Given the description of an element on the screen output the (x, y) to click on. 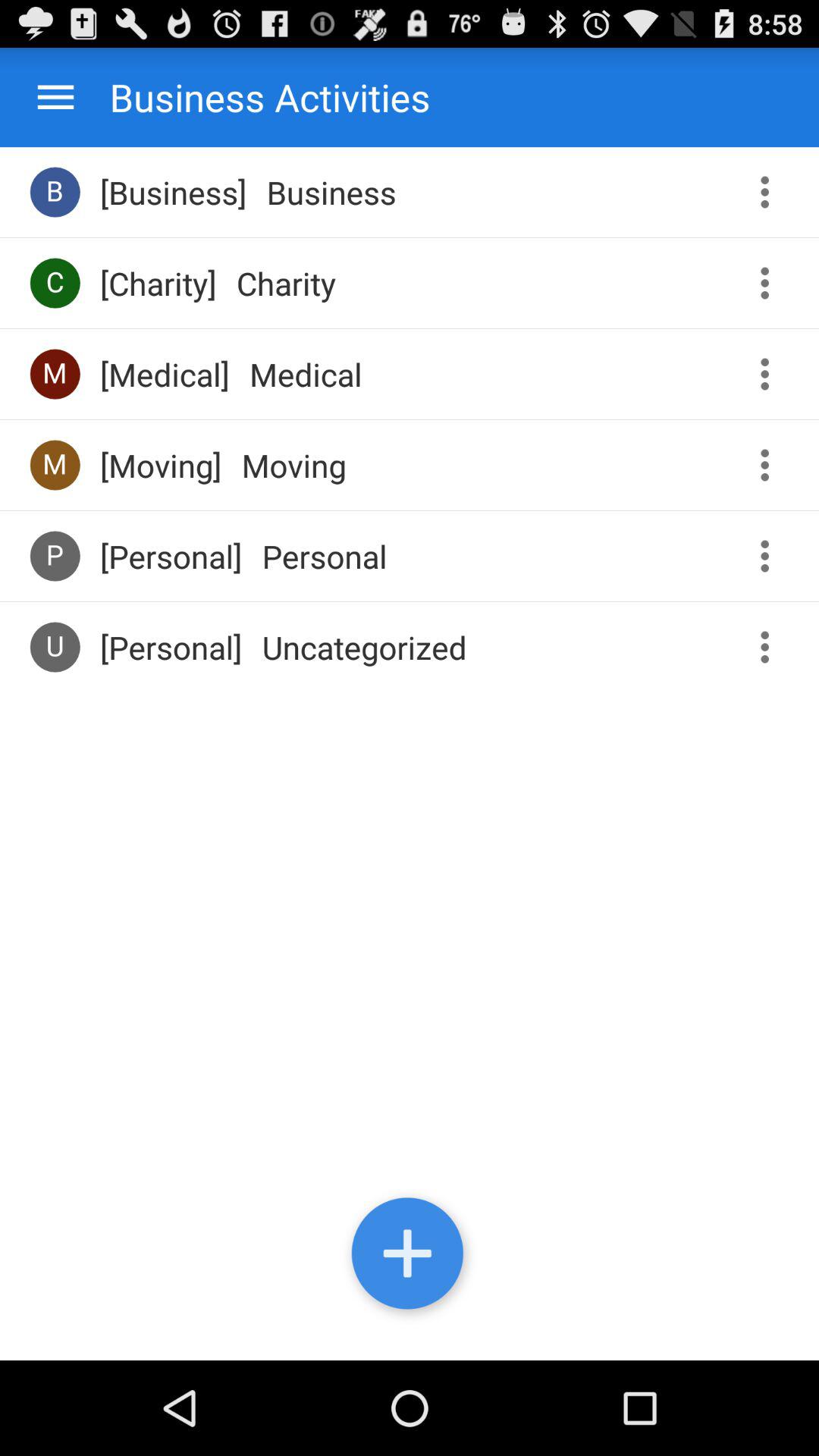
click icon to the left of the [personal] icon (54, 555)
